Given the description of an element on the screen output the (x, y) to click on. 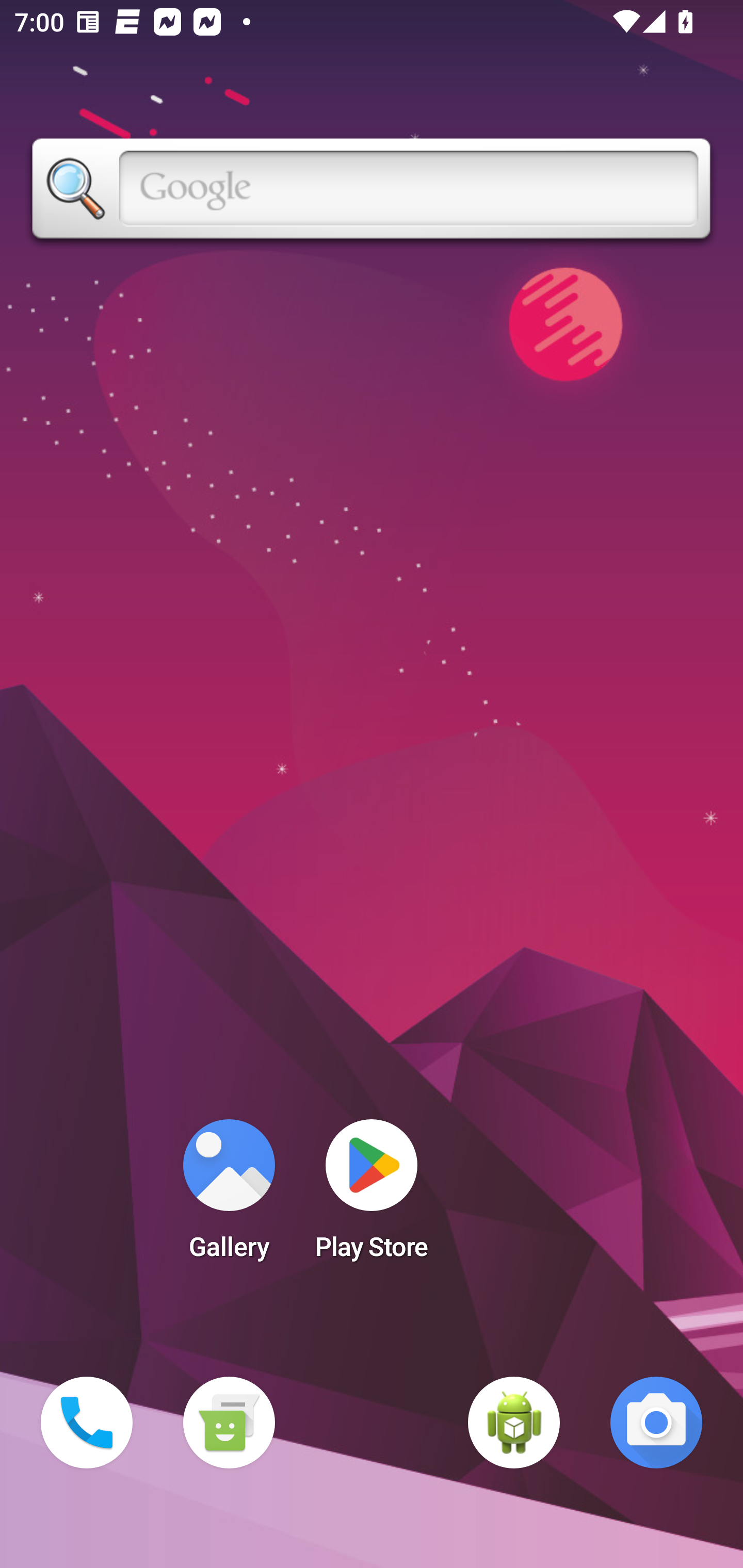
Gallery (228, 1195)
Play Store (371, 1195)
Phone (86, 1422)
Messaging (228, 1422)
WebView Browser Tester (513, 1422)
Camera (656, 1422)
